Given the description of an element on the screen output the (x, y) to click on. 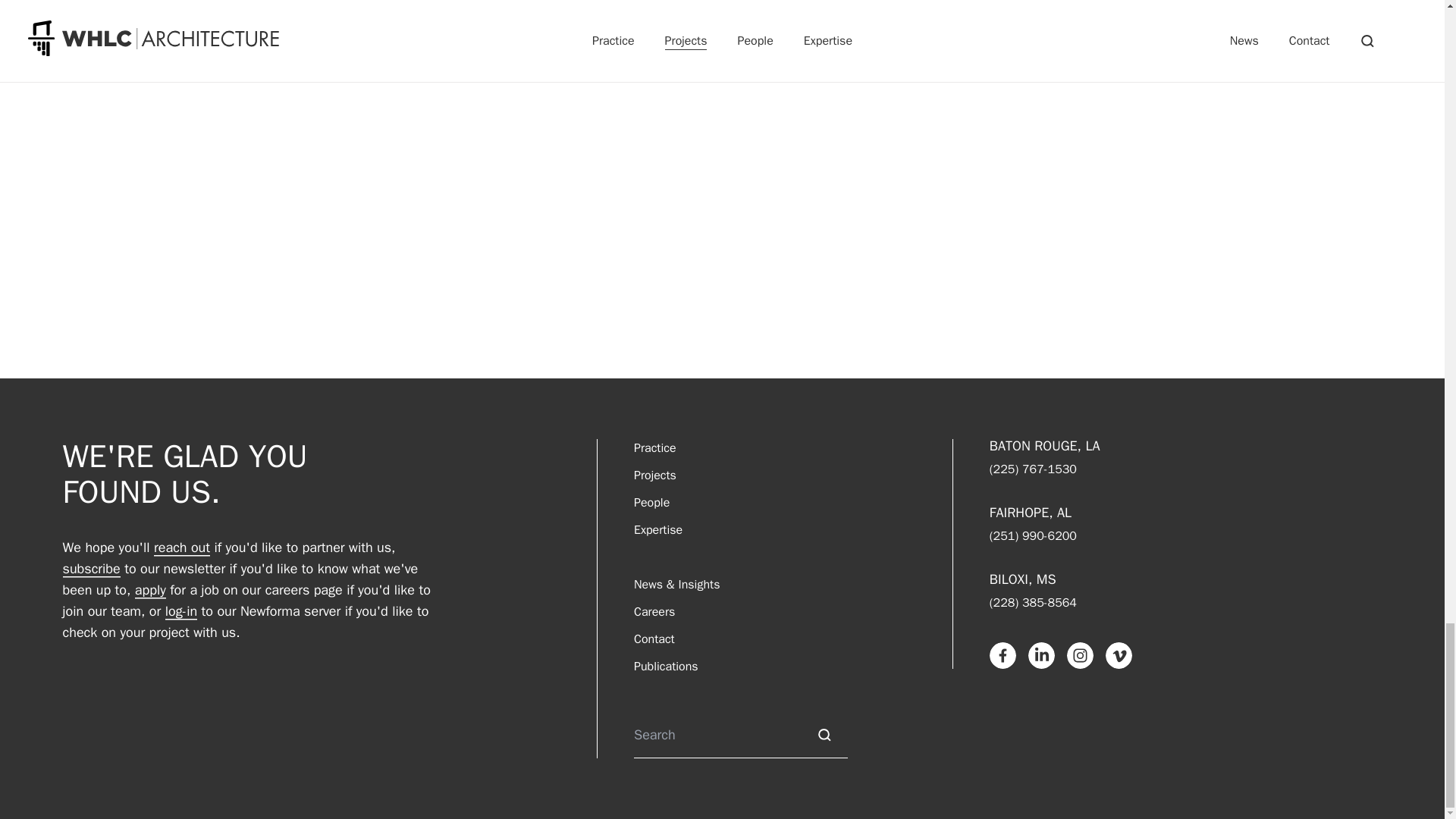
Submit Search (824, 734)
subscribe (91, 568)
People (651, 502)
Practice (655, 447)
Projects (655, 475)
log-in (180, 610)
apply (150, 589)
reach out (181, 547)
